Given the description of an element on the screen output the (x, y) to click on. 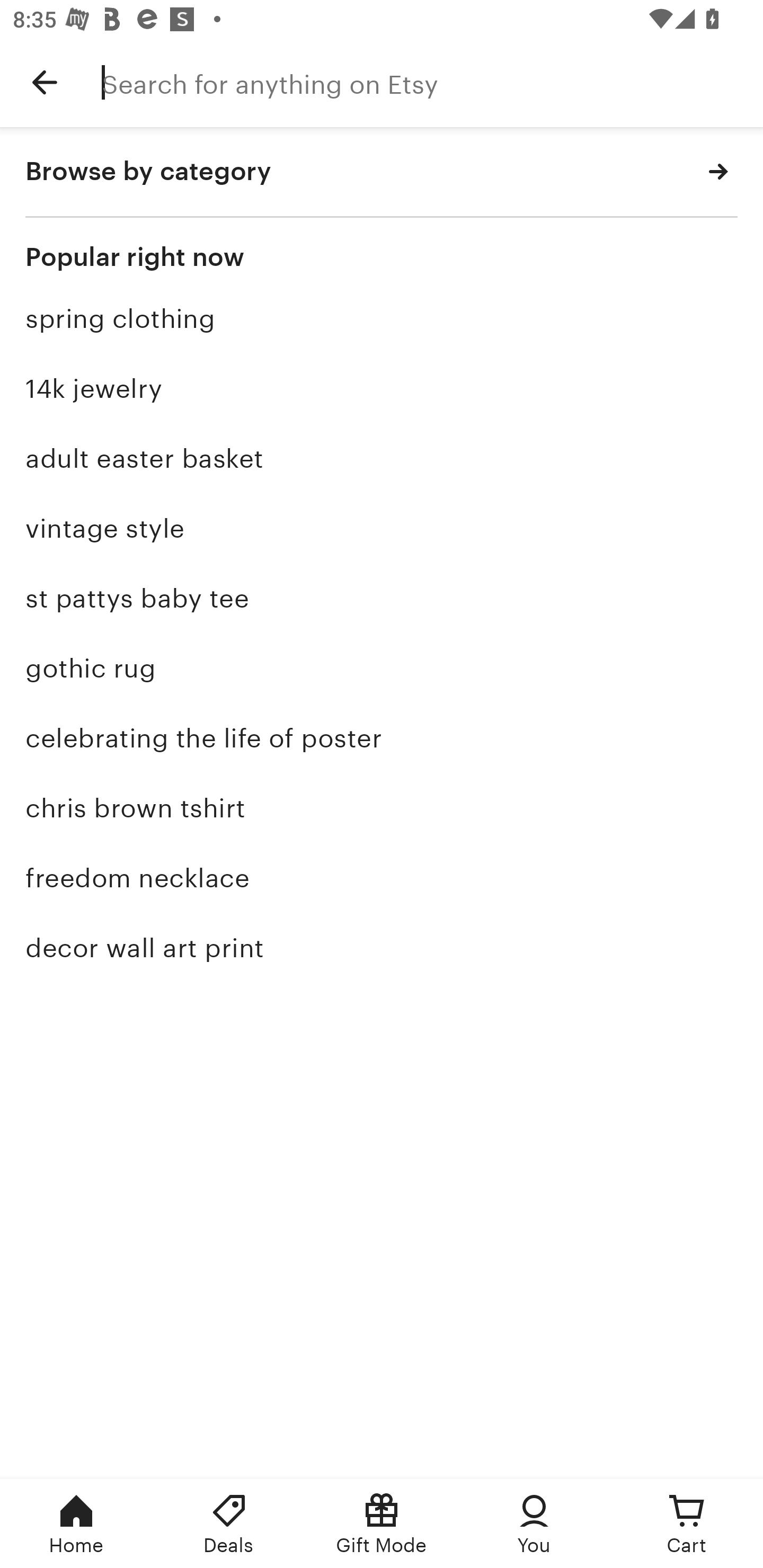
Navigate up (44, 82)
Search for anything on Etsy (432, 82)
Browse by category (381, 172)
spring clothing (381, 318)
14k jewelry (381, 388)
adult easter basket (381, 458)
vintage style (381, 527)
st pattys baby tee (381, 597)
gothic rug (381, 668)
celebrating the life of poster (381, 738)
chris brown tshirt (381, 808)
freedom necklace (381, 877)
decor wall art print (381, 947)
Deals (228, 1523)
Gift Mode (381, 1523)
You (533, 1523)
Cart (686, 1523)
